Given the description of an element on the screen output the (x, y) to click on. 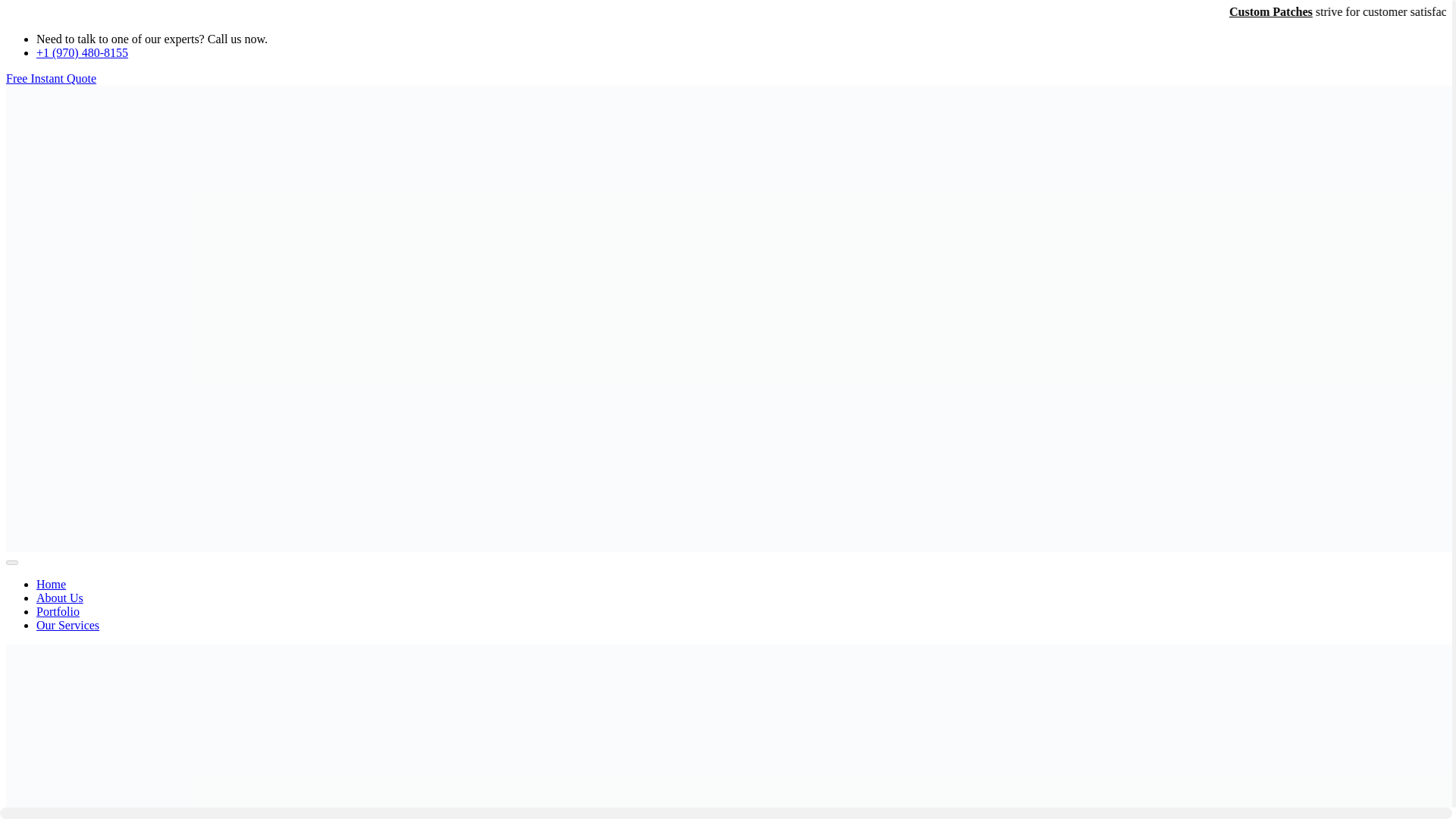
About Us (59, 597)
Free Instant Quote (50, 78)
Our Services (67, 625)
Portfolio (58, 611)
Home (50, 584)
